Given the description of an element on the screen output the (x, y) to click on. 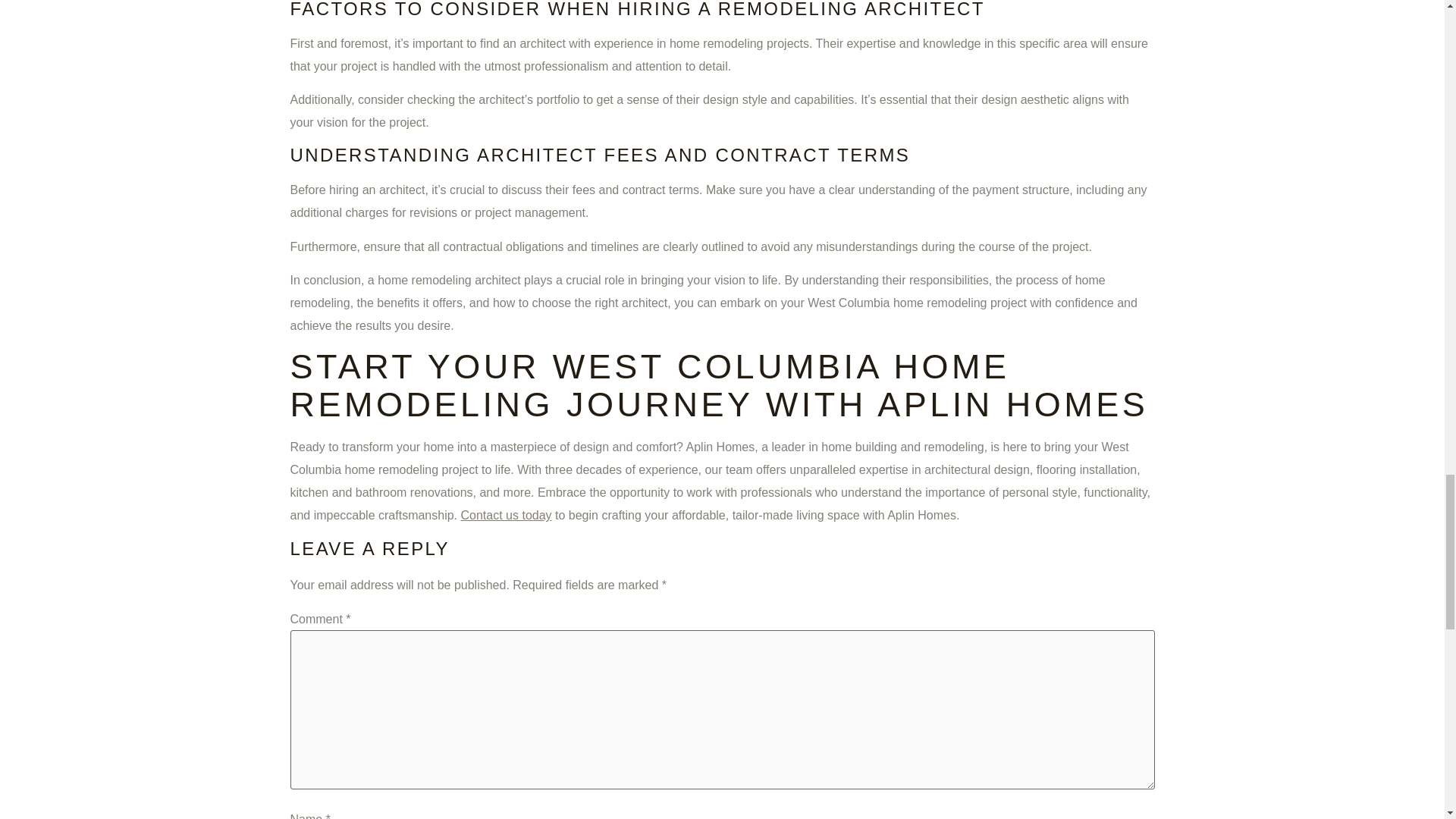
Contact us today (506, 514)
